Given the description of an element on the screen output the (x, y) to click on. 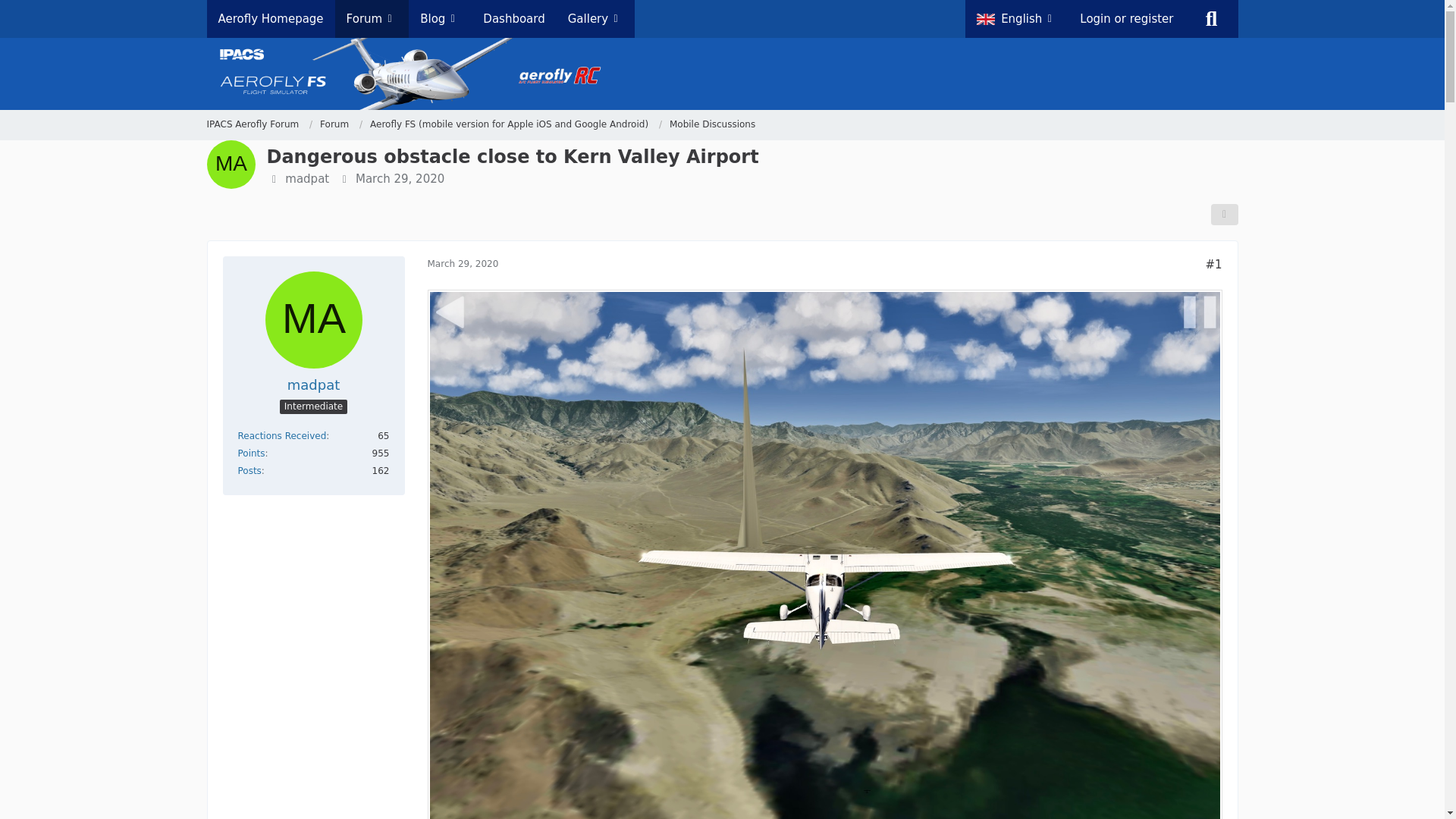
IPACS Aerofly Forum (252, 124)
IPACS Aerofly Forum (259, 124)
Mobile Discussions (712, 124)
Points (251, 452)
Dashboard (513, 18)
Forum (334, 124)
madpat (313, 384)
Posts (250, 470)
madpat (307, 178)
Reactions Received (282, 435)
Login or register (1126, 18)
Forum (341, 124)
Aerofly Homepage (270, 18)
